Given the description of an element on the screen output the (x, y) to click on. 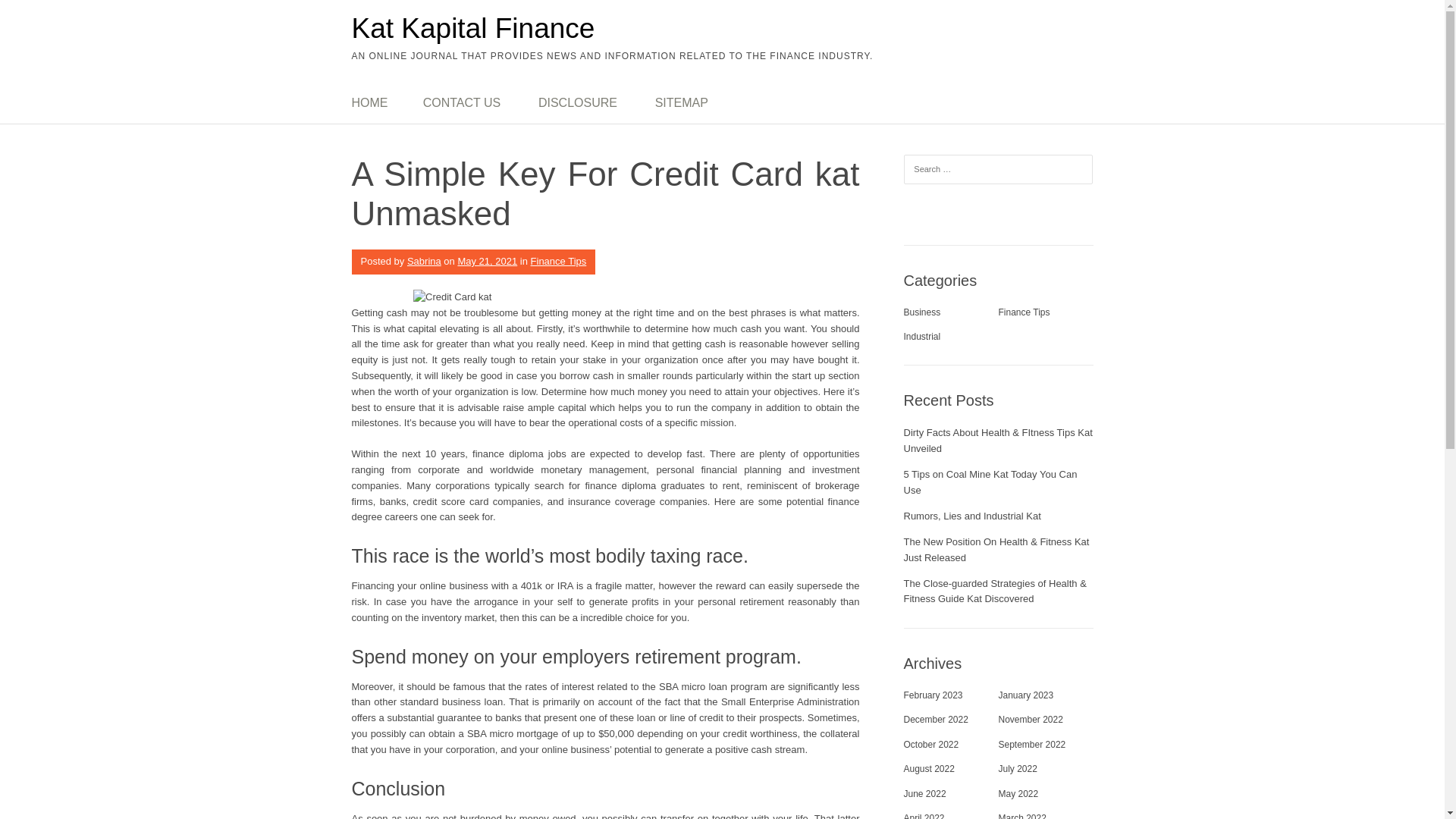
August 2022 (929, 768)
May 21, 2021 (486, 260)
July 2022 (1016, 768)
September 2022 (1031, 744)
Rumors, Lies and Industrial Kat (972, 515)
5 Tips on Coal Mine Kat Today You Can Use (990, 482)
October 2022 (931, 744)
Finance Tips (1023, 312)
November 2022 (1029, 719)
DISCLOSURE (577, 102)
February 2023 (933, 695)
December 2022 (936, 719)
HOME (379, 102)
Search (30, 15)
Kat Kapital Finance (473, 28)
